Given the description of an element on the screen output the (x, y) to click on. 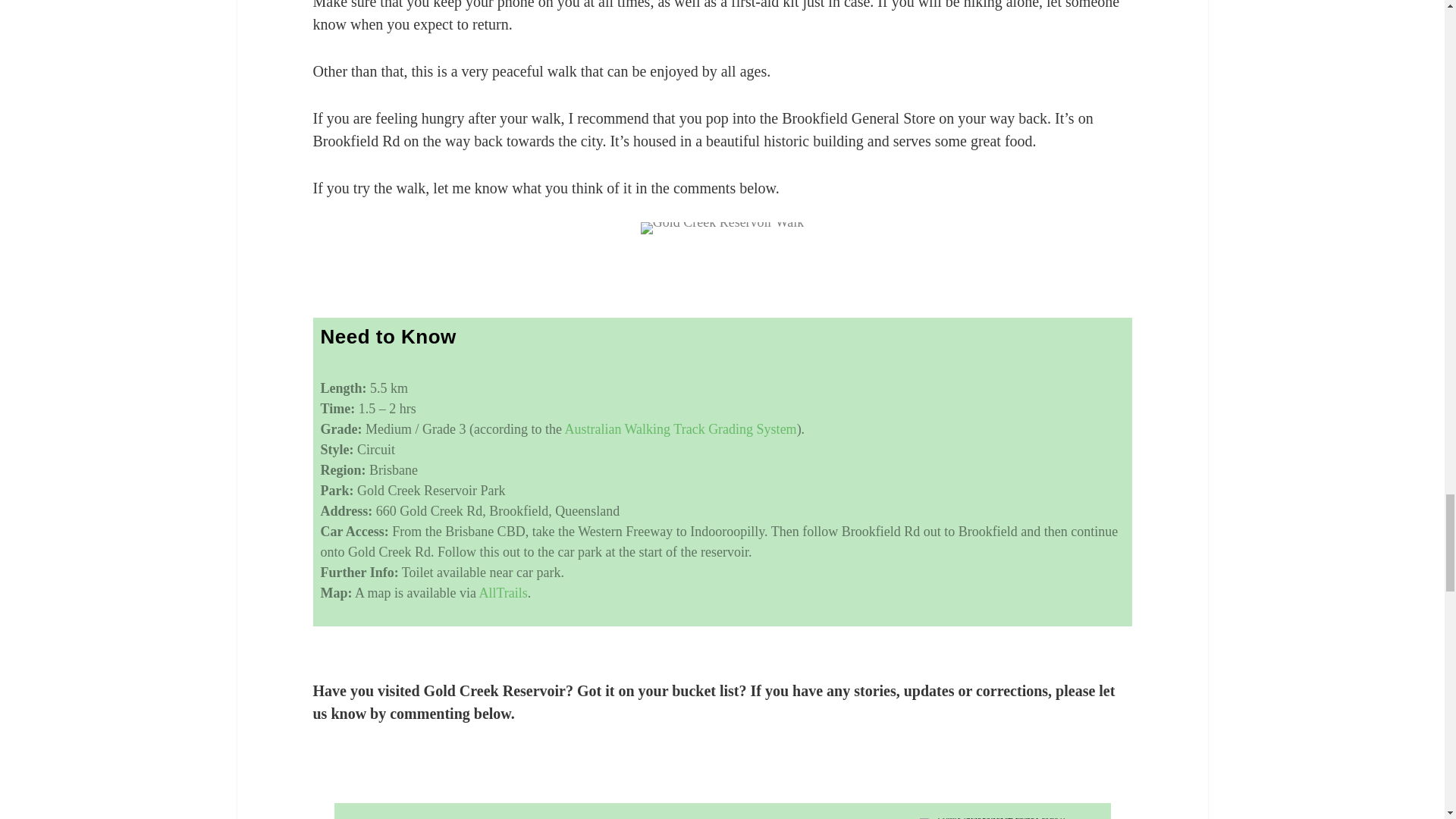
Gold Creek Reservoir Walk (722, 227)
